Given the description of an element on the screen output the (x, y) to click on. 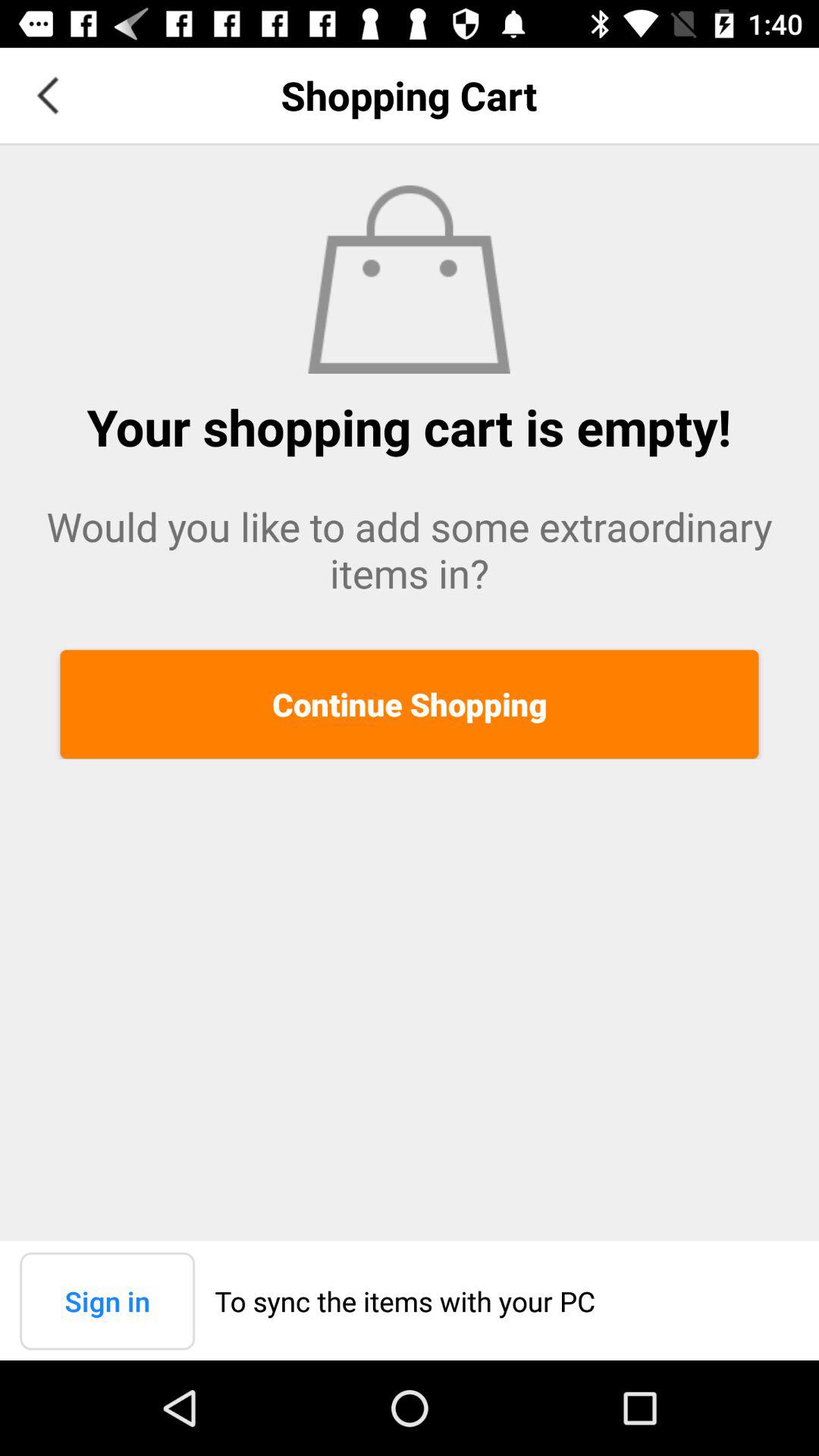
swipe to continue shopping icon (409, 704)
